Given the description of an element on the screen output the (x, y) to click on. 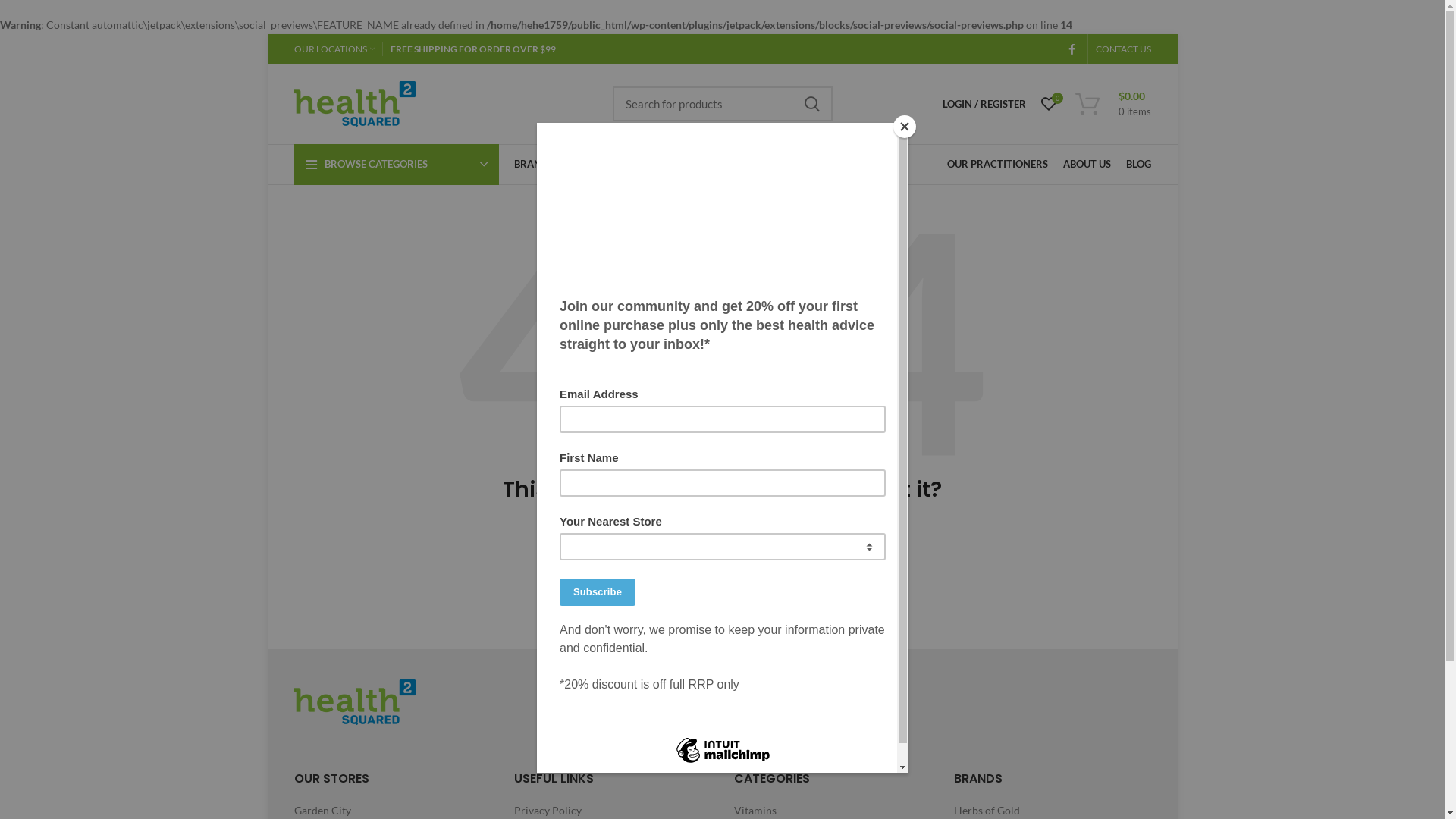
cropped-Health-Squared-Logo_RGB-small.png Element type: hover (354, 701)
BLOG Element type: text (1137, 164)
BRANDS Element type: text (538, 164)
OUR LOCATIONS Element type: text (334, 49)
Garden City Element type: text (323, 810)
SEARCH Element type: text (853, 570)
Search for products Element type: hover (722, 103)
Search for posts Element type: hover (721, 570)
CONTACT US Element type: text (1122, 49)
0 items
$0.00 Element type: text (1112, 103)
Vitamins Element type: text (756, 810)
LOGIN / REGISTER Element type: text (983, 103)
OUR PRACTITIONERS Element type: text (996, 164)
Privacy Policy Element type: text (548, 810)
SEARCH Element type: text (812, 103)
0 Element type: text (1047, 103)
ABOUT US Element type: text (1086, 164)
Herbs of Gold Element type: text (987, 810)
